Given the description of an element on the screen output the (x, y) to click on. 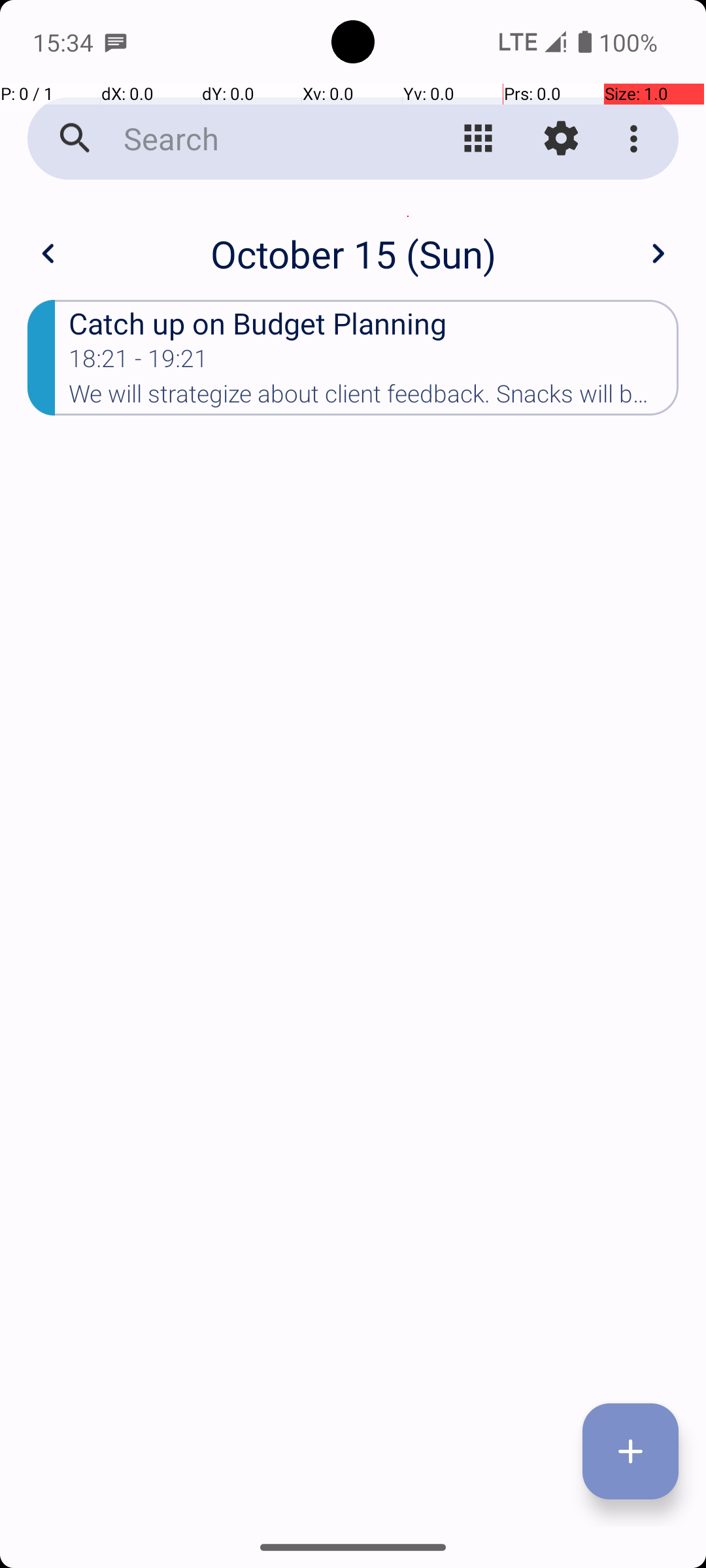
18:21 - 19:21 Element type: android.widget.TextView (137, 362)
We will strategize about client feedback. Snacks will be provided. Element type: android.widget.TextView (373, 397)
